Given the description of an element on the screen output the (x, y) to click on. 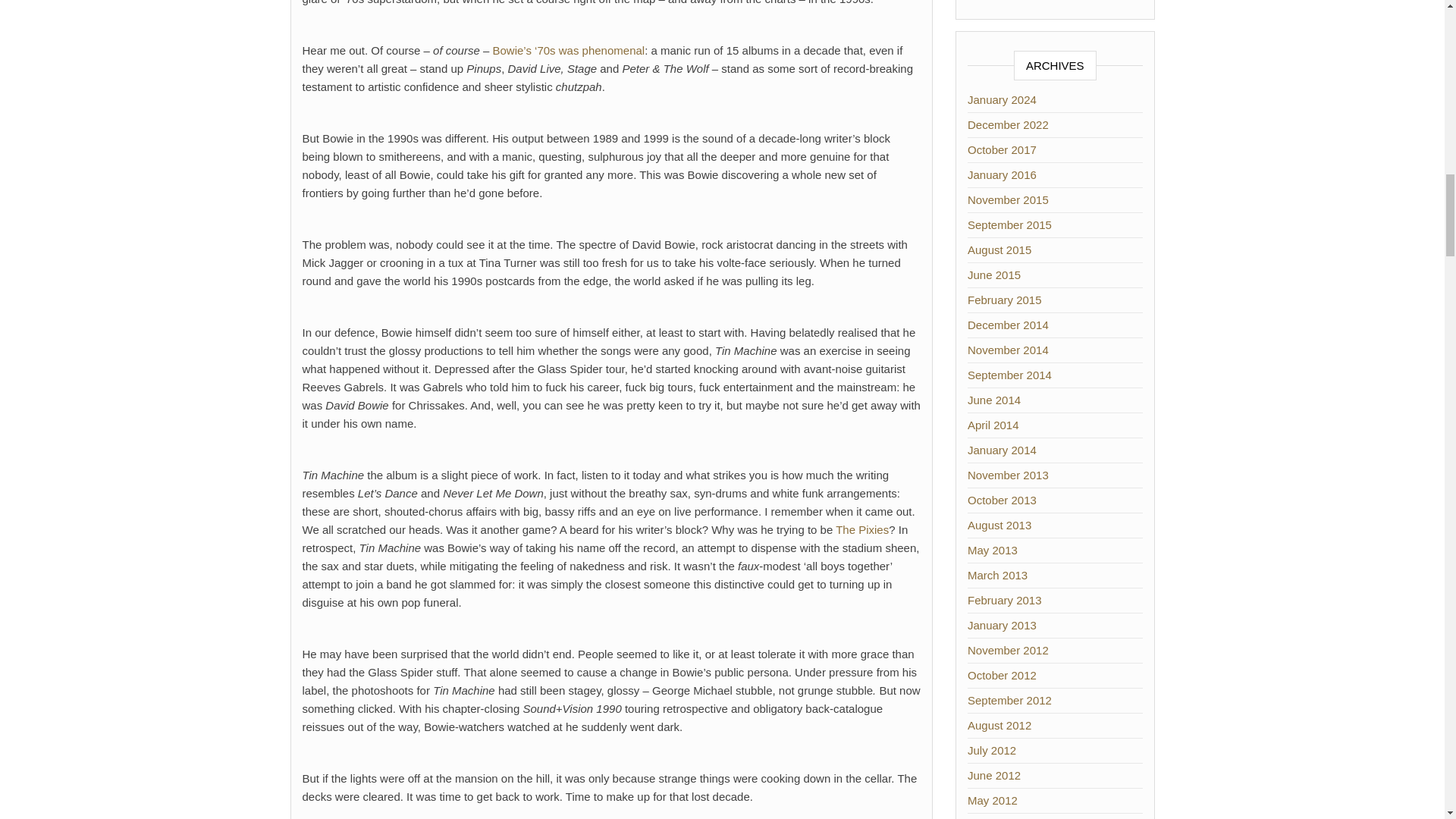
When Ziggy Played Guitar (568, 50)
The Pixies (861, 529)
